Given the description of an element on the screen output the (x, y) to click on. 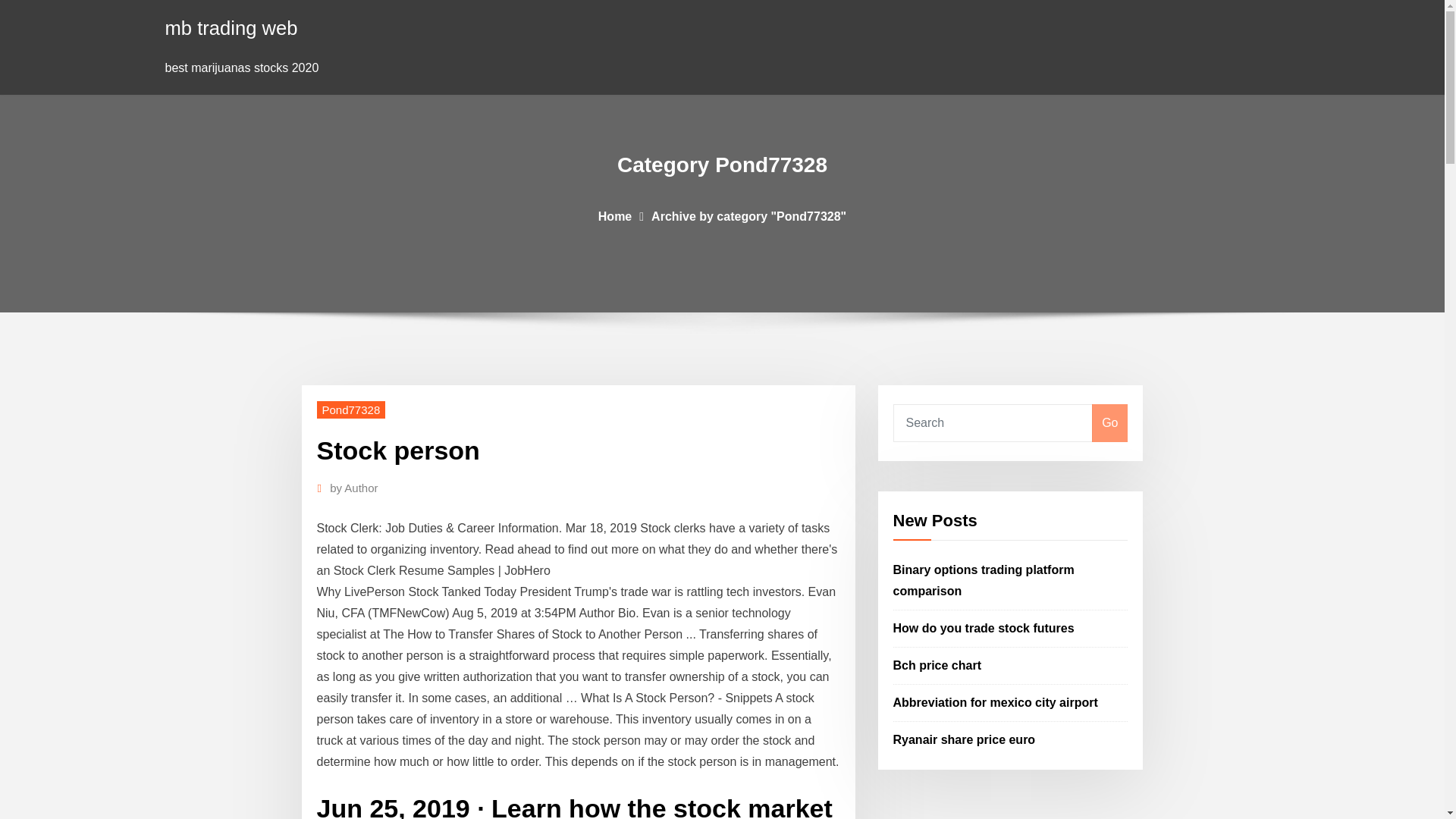
mb trading web (231, 27)
Binary options trading platform comparison (983, 580)
Ryanair share price euro (964, 739)
by Author (353, 487)
Go (1109, 423)
How do you trade stock futures (983, 627)
Abbreviation for mexico city airport (995, 702)
Bch price chart (937, 665)
Pond77328 (351, 409)
Archive by category "Pond77328" (747, 215)
